Given the description of an element on the screen output the (x, y) to click on. 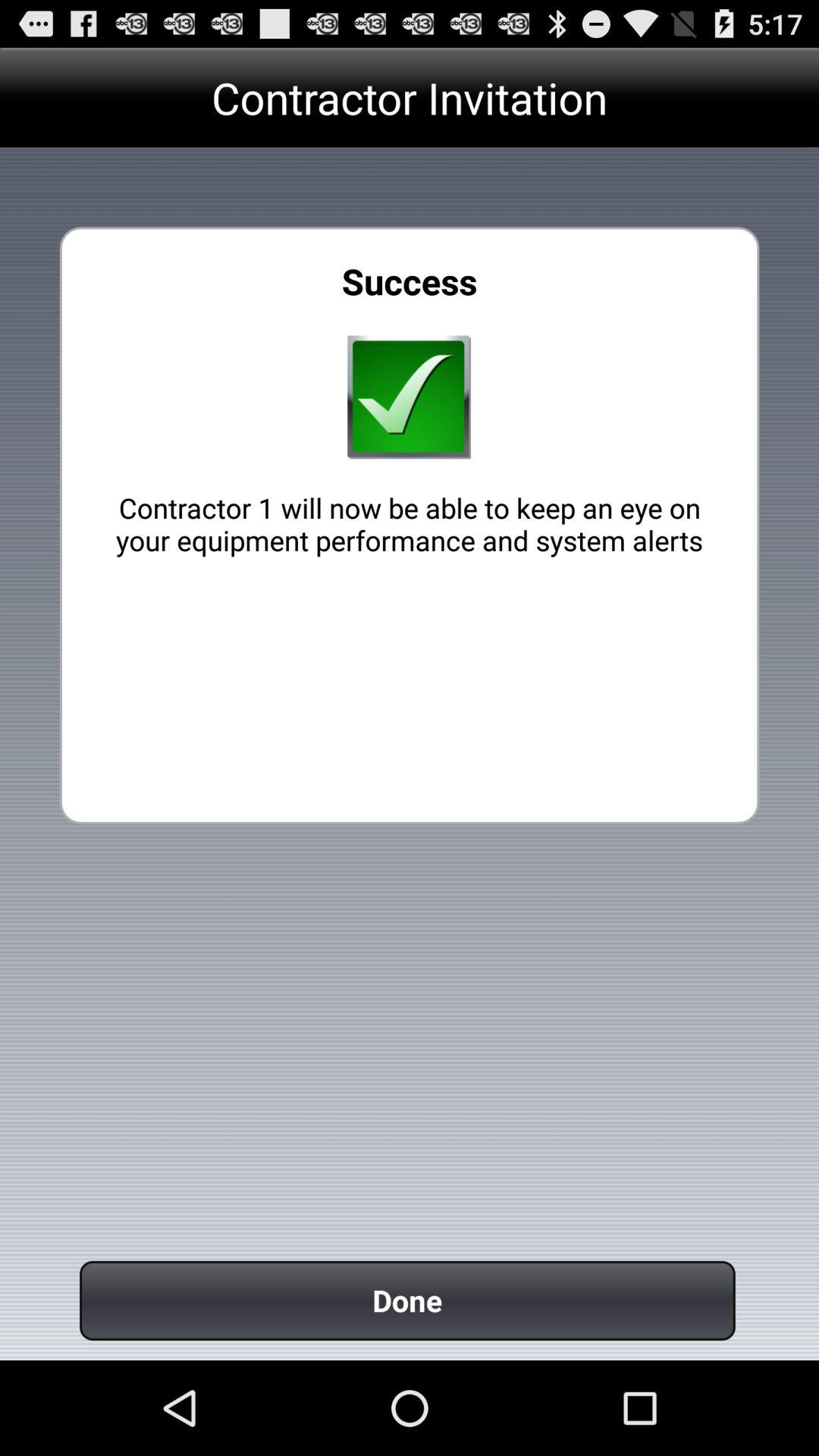
choose done icon (407, 1300)
